Given the description of an element on the screen output the (x, y) to click on. 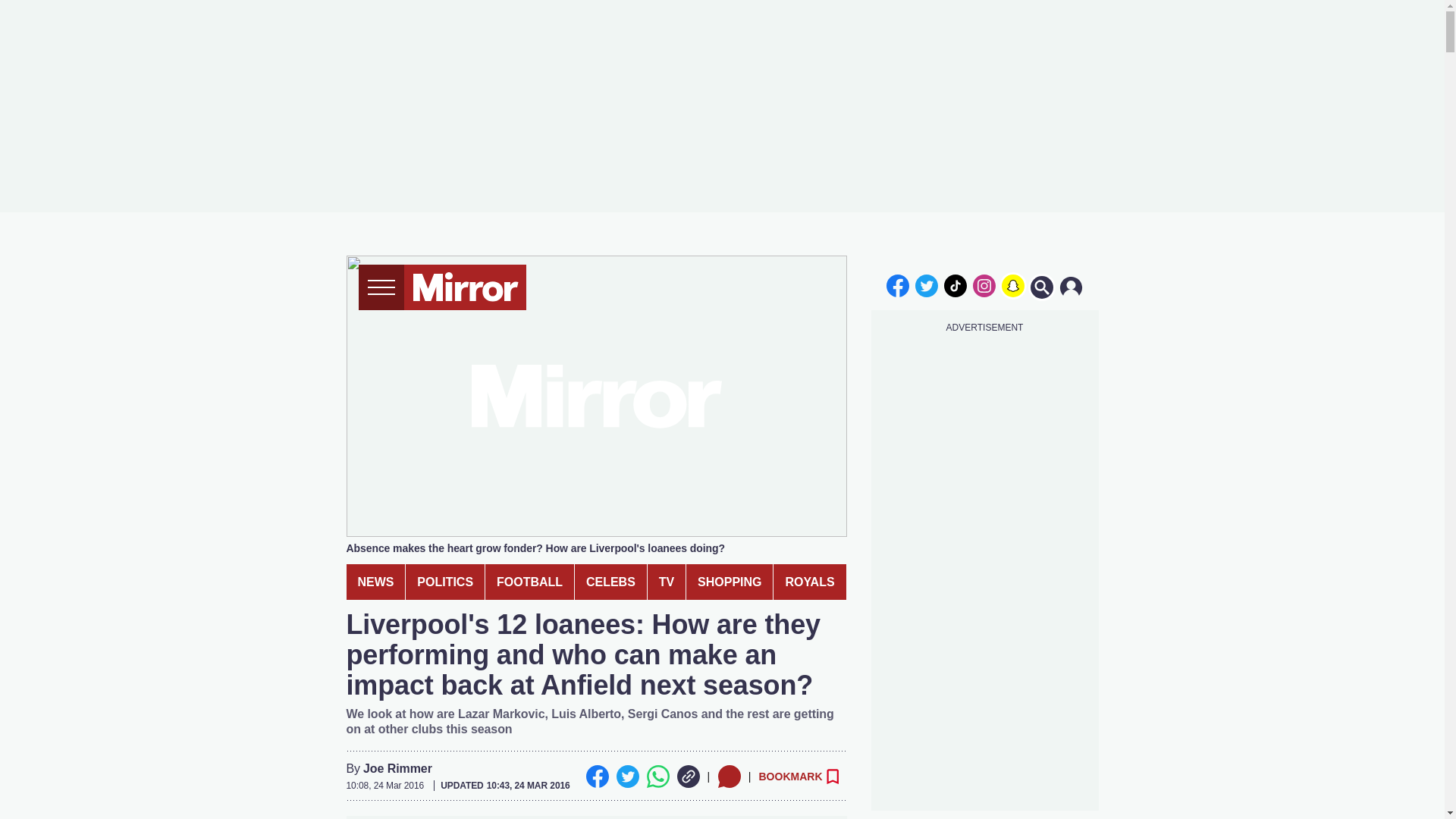
twitter (926, 285)
CELEBS (610, 581)
Facebook (596, 775)
Twitter (627, 775)
NEWS (375, 581)
tiktok (955, 285)
POLITICS (445, 581)
snapchat (1012, 285)
instagram (984, 285)
facebook (897, 285)
